Given the description of an element on the screen output the (x, y) to click on. 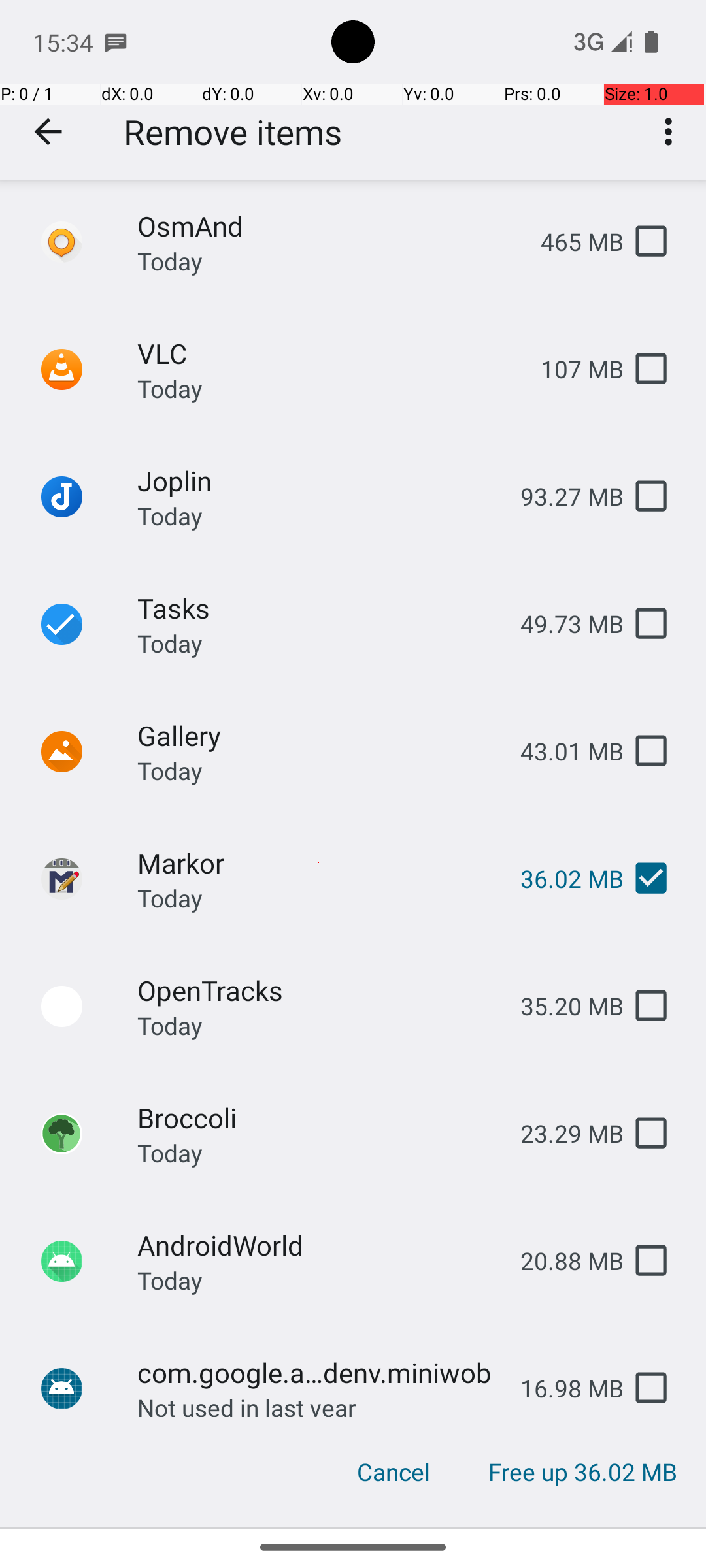
Remove items Element type: android.widget.TextView (232, 131)
Free up 36.02 MB Element type: android.widget.Button (582, 1471)
465 MB Element type: android.widget.TextView (571, 241)
107 MB Element type: android.widget.TextView (571, 368)
93.27 MB Element type: android.widget.TextView (561, 495)
49.73 MB Element type: android.widget.TextView (561, 623)
43.01 MB Element type: android.widget.TextView (561, 750)
36.02 MB Element type: android.widget.TextView (561, 878)
35.20 MB Element type: android.widget.TextView (561, 1005)
23.29 MB Element type: android.widget.TextView (561, 1132)
20.88 MB Element type: android.widget.TextView (561, 1260)
com.google.androidenv.miniwob Element type: android.widget.TextView (318, 1371)
Not used in last year Element type: android.widget.TextView (246, 1403)
16.98 MB Element type: android.widget.TextView (561, 1387)
